Given the description of an element on the screen output the (x, y) to click on. 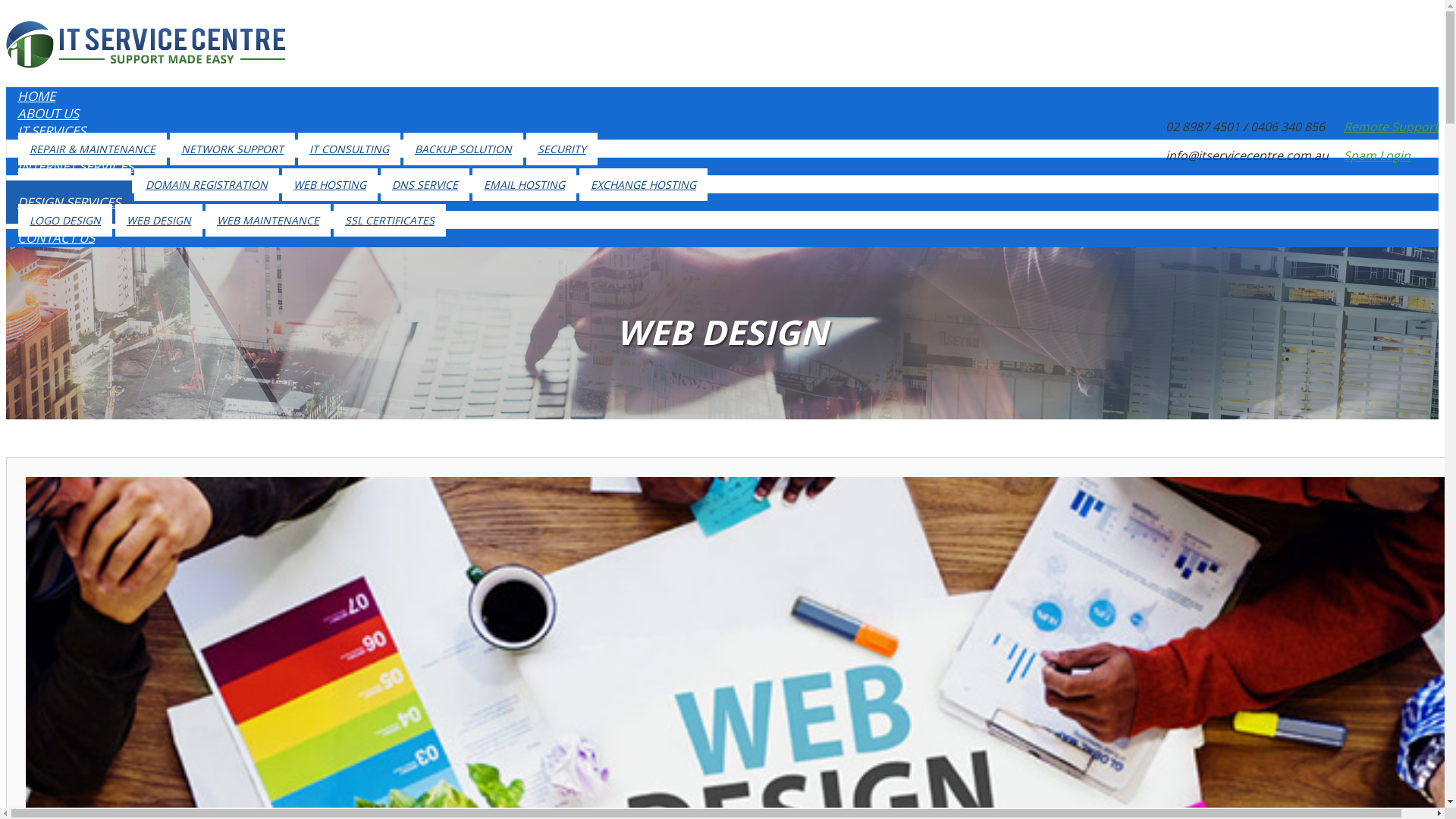
EXCHANGE HOSTING Element type: text (643, 184)
IT SERVICES Element type: text (51, 130)
DOMAIN REGISTRATION Element type: text (206, 184)
EMAIL HOSTING Element type: text (524, 184)
IT CONSULTING Element type: text (349, 148)
Remote Support Element type: text (1390, 126)
DNS SERVICE Element type: text (424, 184)
INTERNET & ADSL Element type: text (74, 184)
DESIGN SERVICES Element type: text (68, 201)
REPAIR & MAINTENANCE Element type: text (92, 148)
Spam Login Element type: text (1376, 155)
WEB MAINTENANCE Element type: text (267, 219)
BACKUP SOLUTION Element type: text (463, 148)
NETWORK SUPPORT Element type: text (231, 148)
SSL CERTIFICATES Element type: text (389, 219)
WEB HOSTING Element type: text (329, 184)
ABOUT US Element type: text (48, 112)
SECURITY Element type: text (561, 148)
WEB DESIGN Element type: text (158, 219)
INTERNET SERVICES Element type: text (75, 166)
LOGO DESIGN Element type: text (65, 219)
CONTACT US Element type: text (56, 237)
HOME Element type: text (36, 95)
